Given the description of an element on the screen output the (x, y) to click on. 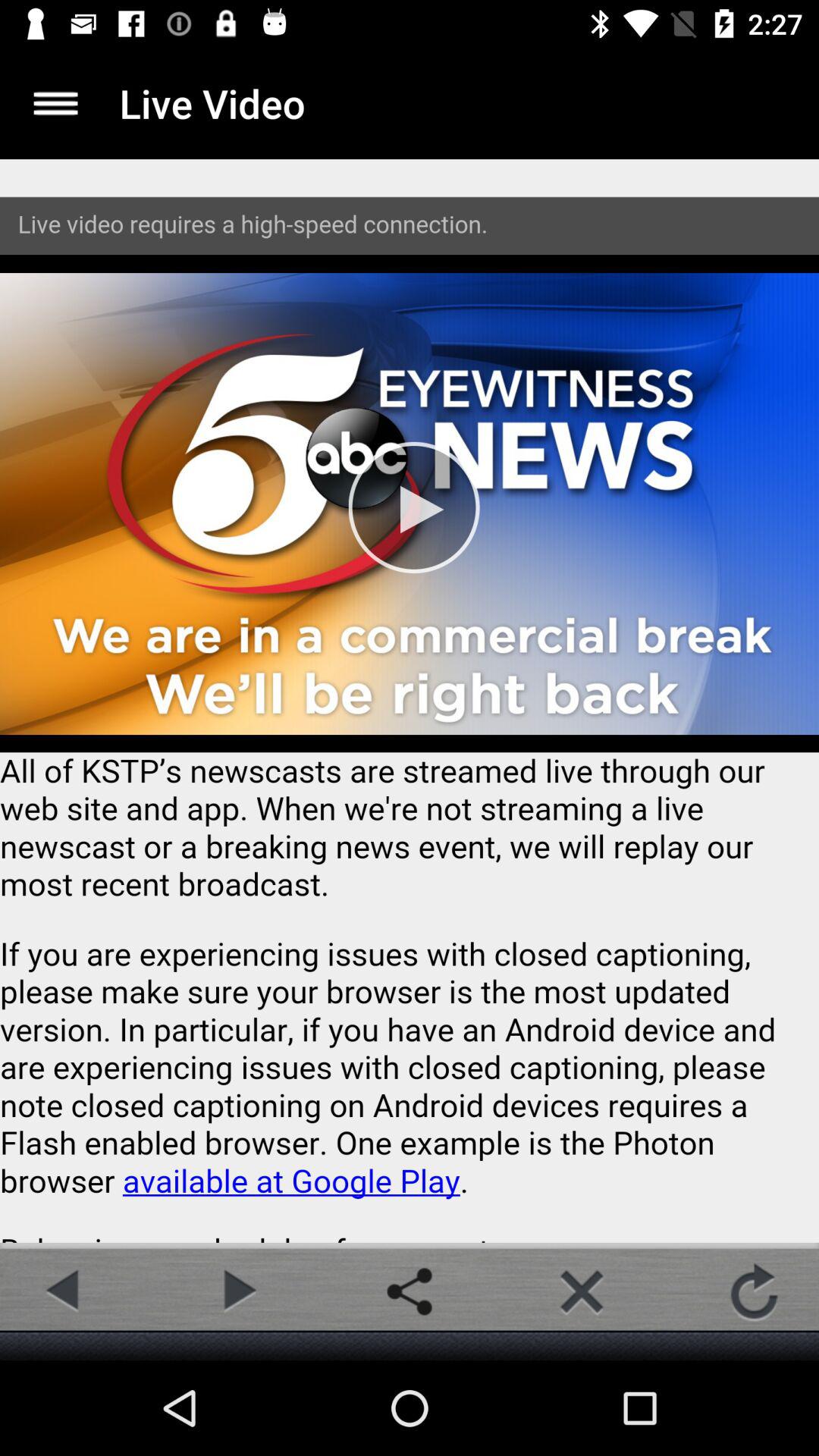
go back (64, 1291)
